Given the description of an element on the screen output the (x, y) to click on. 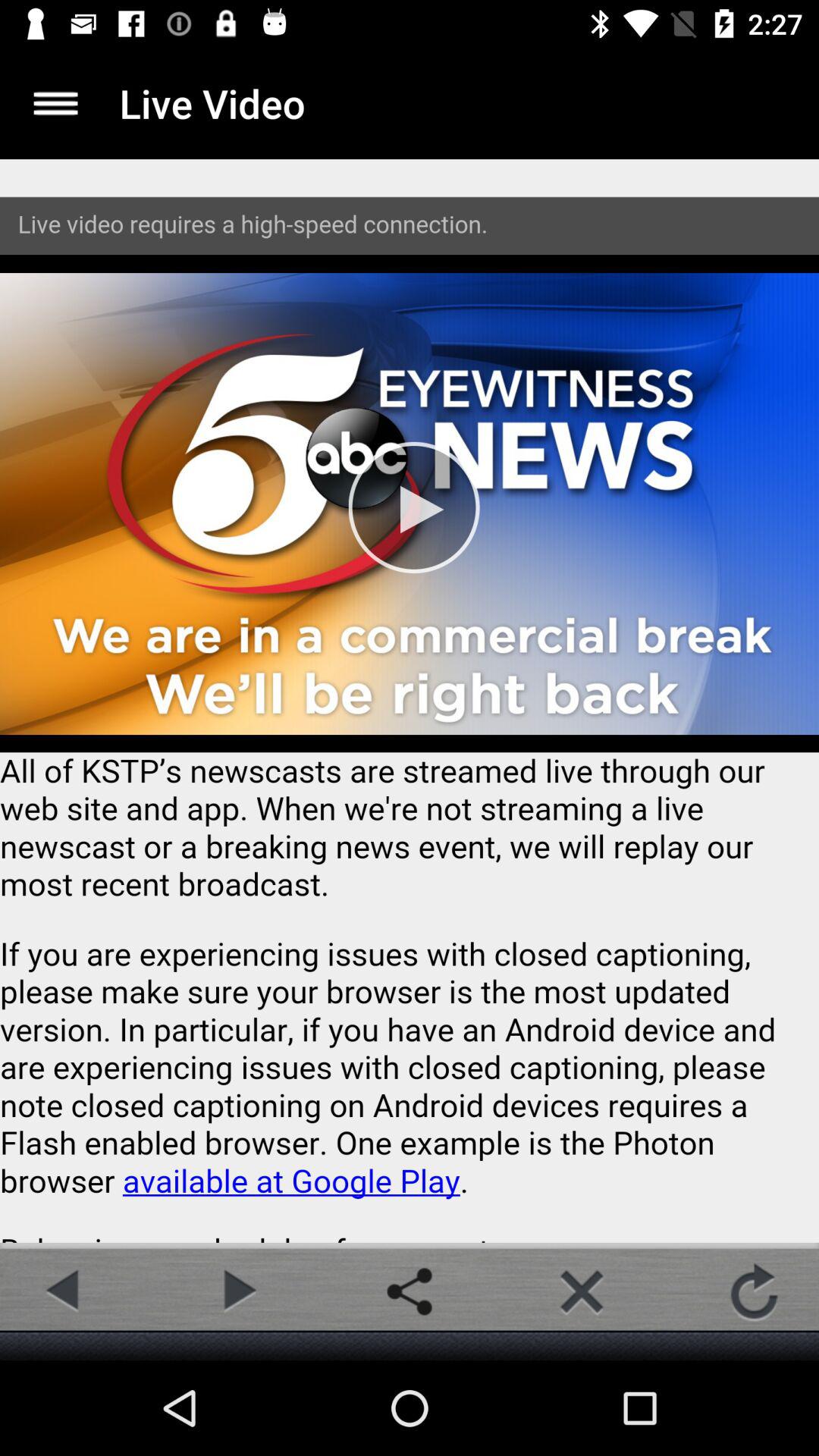
go back (64, 1291)
